Given the description of an element on the screen output the (x, y) to click on. 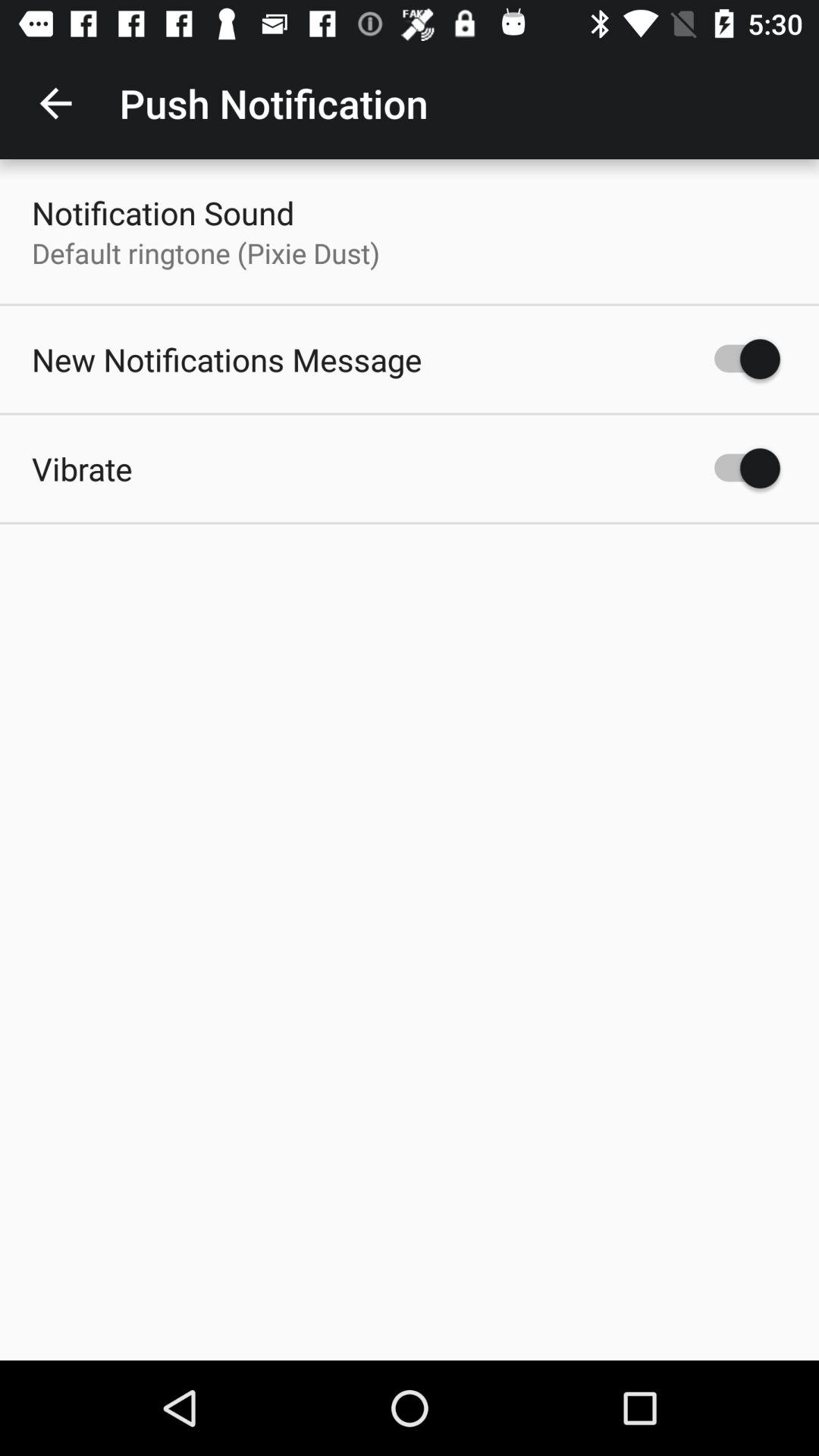
click the item below default ringtone pixie (226, 359)
